Given the description of an element on the screen output the (x, y) to click on. 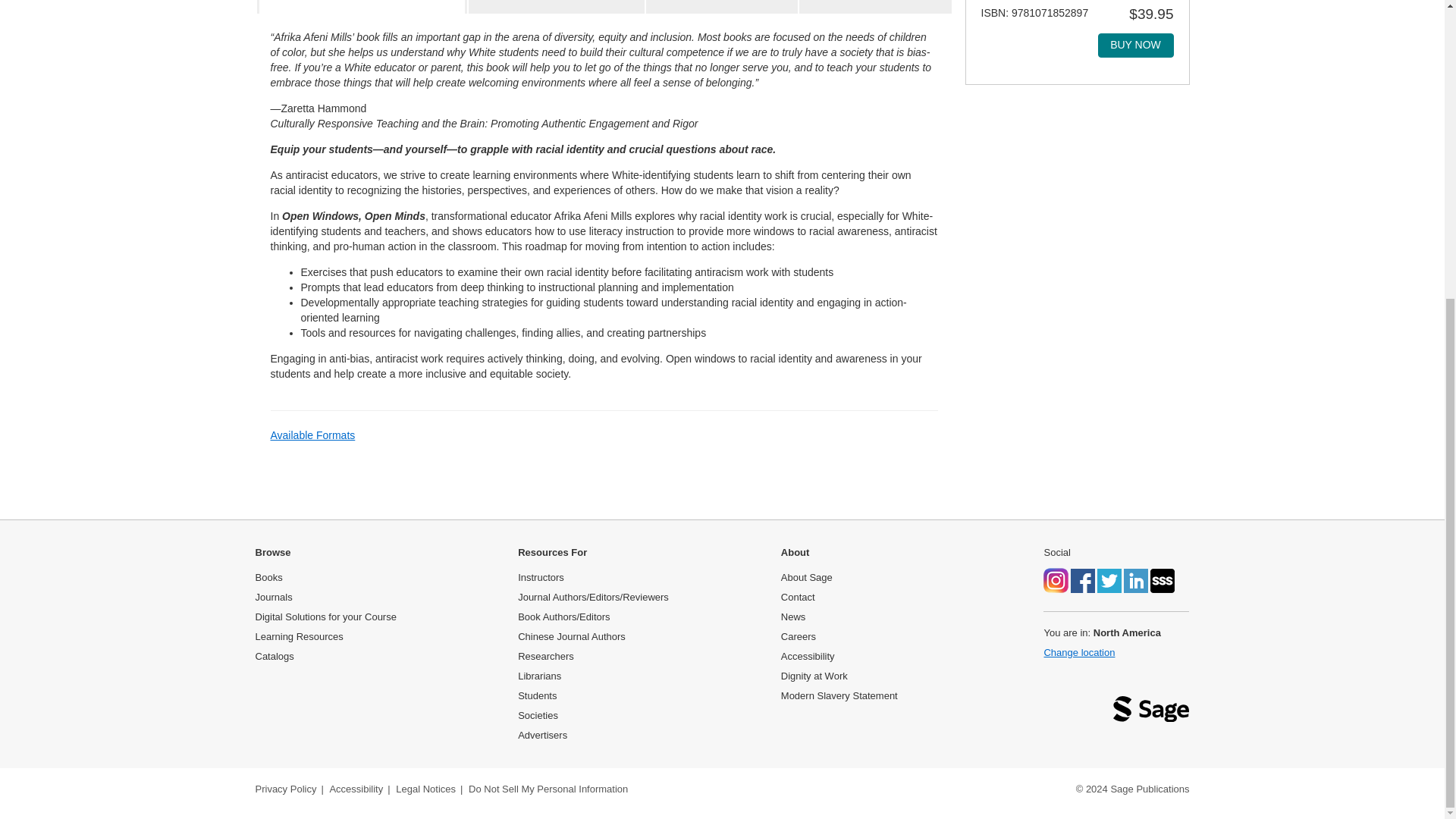
Buy now (1135, 45)
